Given the description of an element on the screen output the (x, y) to click on. 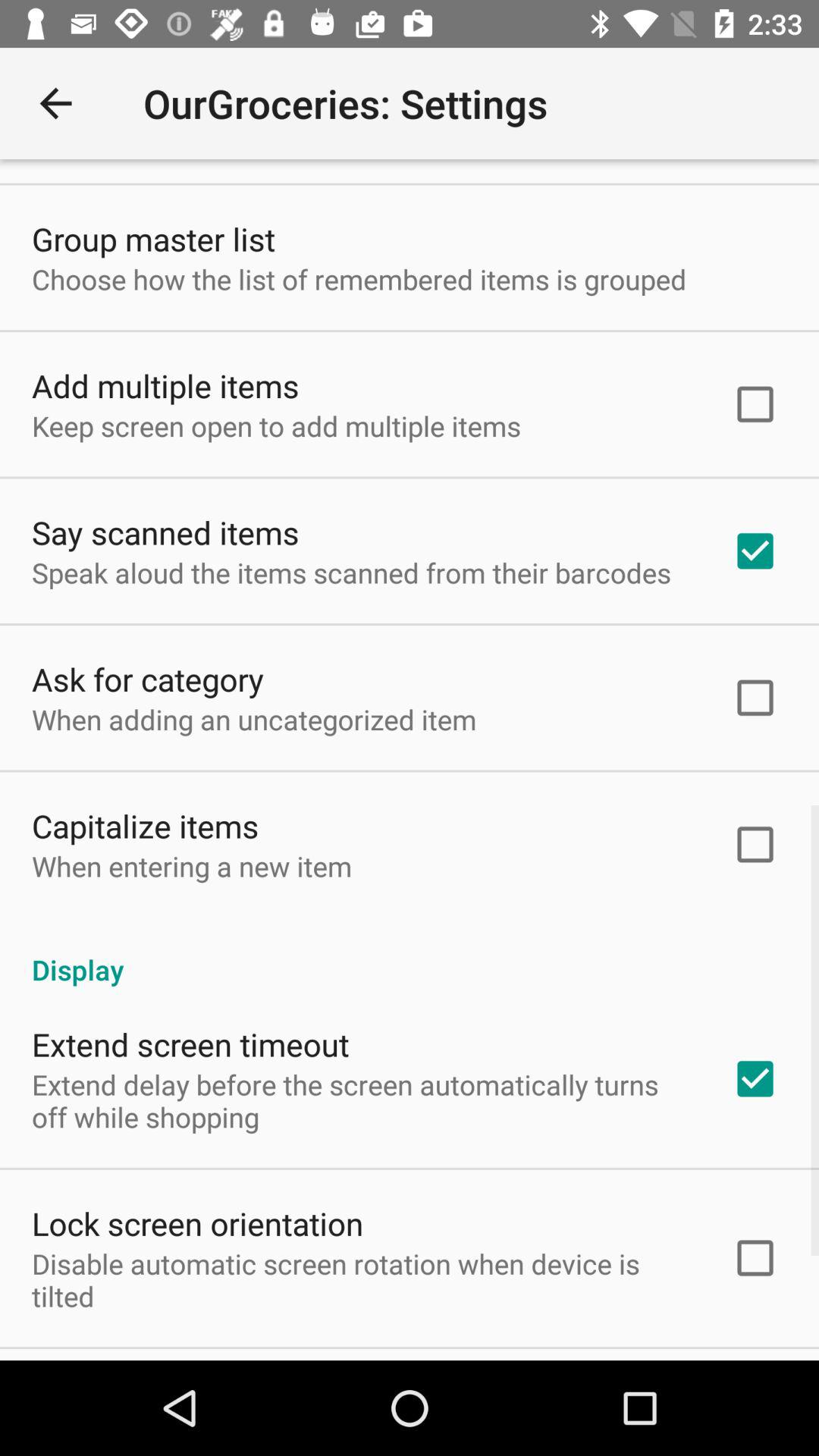
jump until the capitalize items (144, 825)
